Given the description of an element on the screen output the (x, y) to click on. 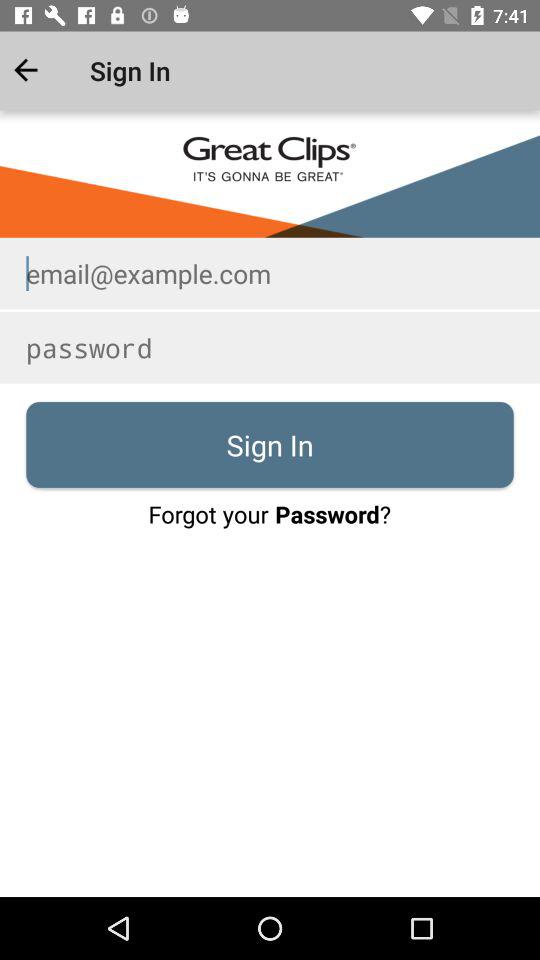
enter email (270, 273)
